Given the description of an element on the screen output the (x, y) to click on. 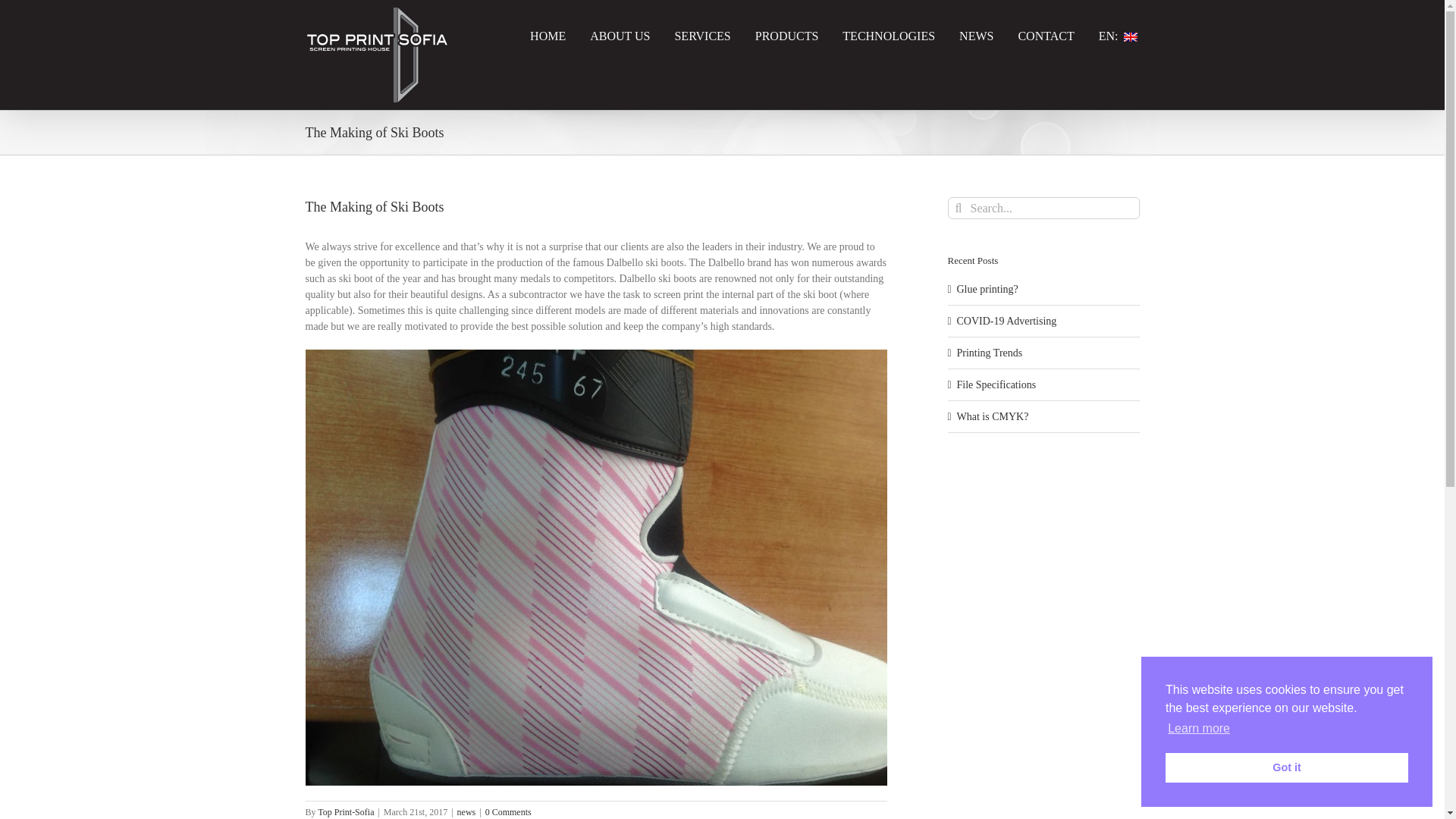
Posts by Top Print-Sofia (345, 811)
TECHNOLOGIES (888, 35)
Learn more (1198, 728)
PRODUCTS (786, 35)
Got it (1286, 767)
